Given the description of an element on the screen output the (x, y) to click on. 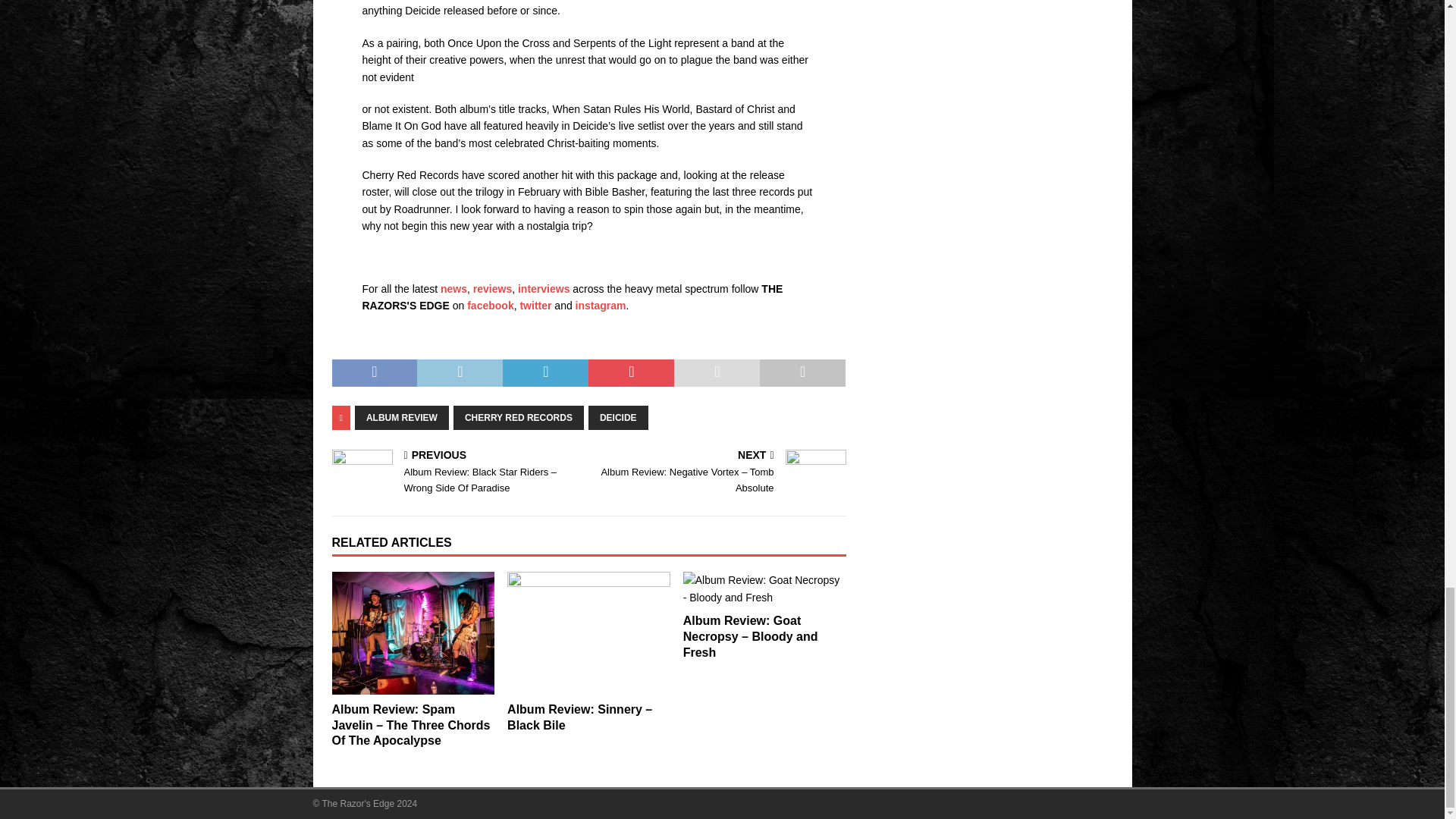
reviews (492, 288)
twitter (535, 305)
CHERRY RED RECORDS (517, 417)
interviews (543, 288)
facebook (490, 305)
instagram (600, 305)
ALBUM REVIEW (401, 417)
news (454, 288)
